Given the description of an element on the screen output the (x, y) to click on. 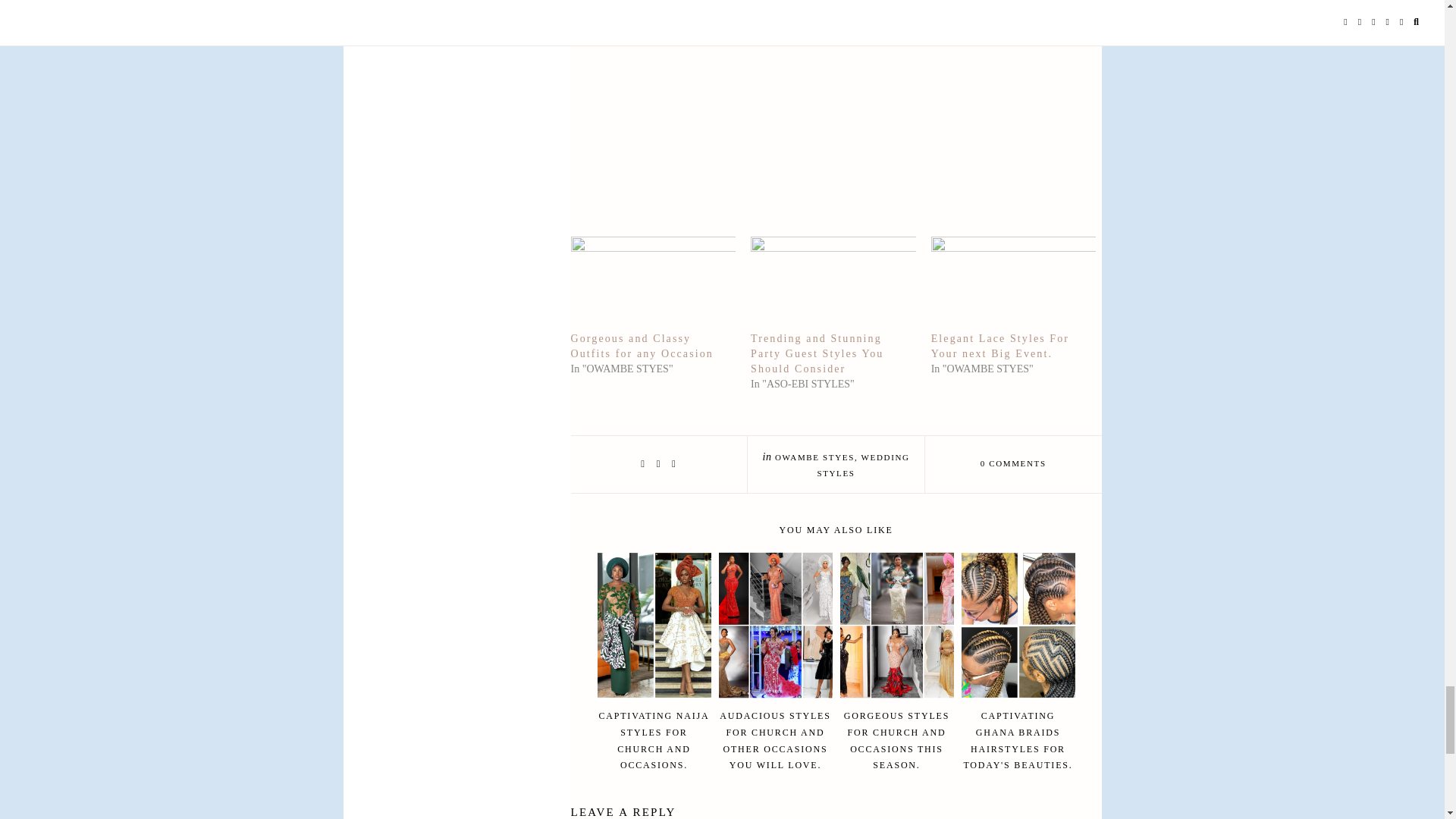
Gorgeous and Classy Outfits for any Occasion (652, 283)
Trending and Stunning Party Guest Styles You Should Consider (833, 283)
Gorgeous and Classy Outfits for any Occasion (641, 345)
